Given the description of an element on the screen output the (x, y) to click on. 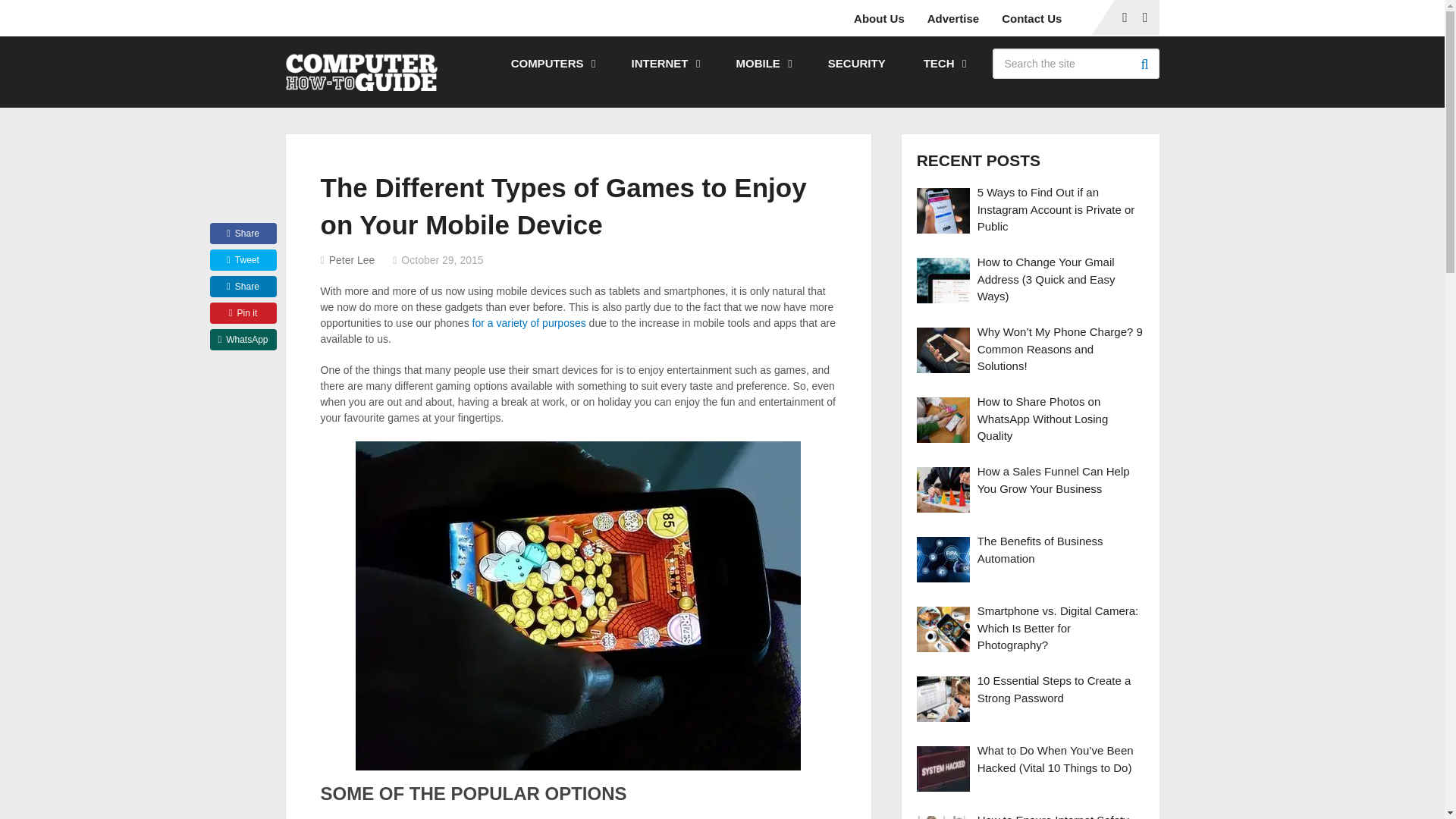
COMPUTERS (552, 63)
About Us (884, 18)
Advertise (952, 18)
TECH (944, 63)
SECURITY (856, 63)
Search (1143, 63)
Posts by Peter Lee (352, 259)
MOBILE (762, 63)
Contact Us (1031, 18)
INTERNET (663, 63)
Peter Lee (352, 259)
